Given the description of an element on the screen output the (x, y) to click on. 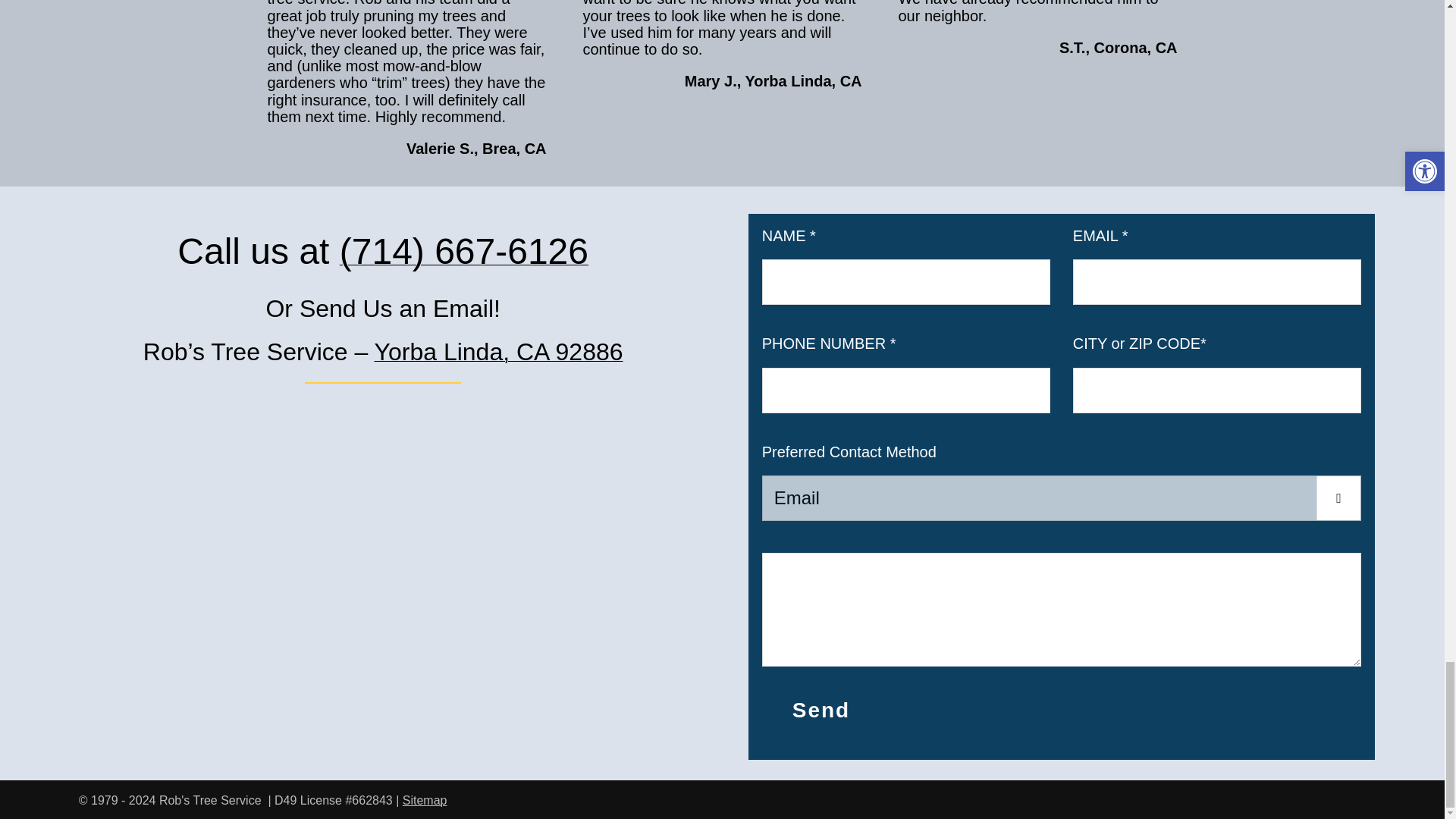
Send (820, 710)
